Given the description of an element on the screen output the (x, y) to click on. 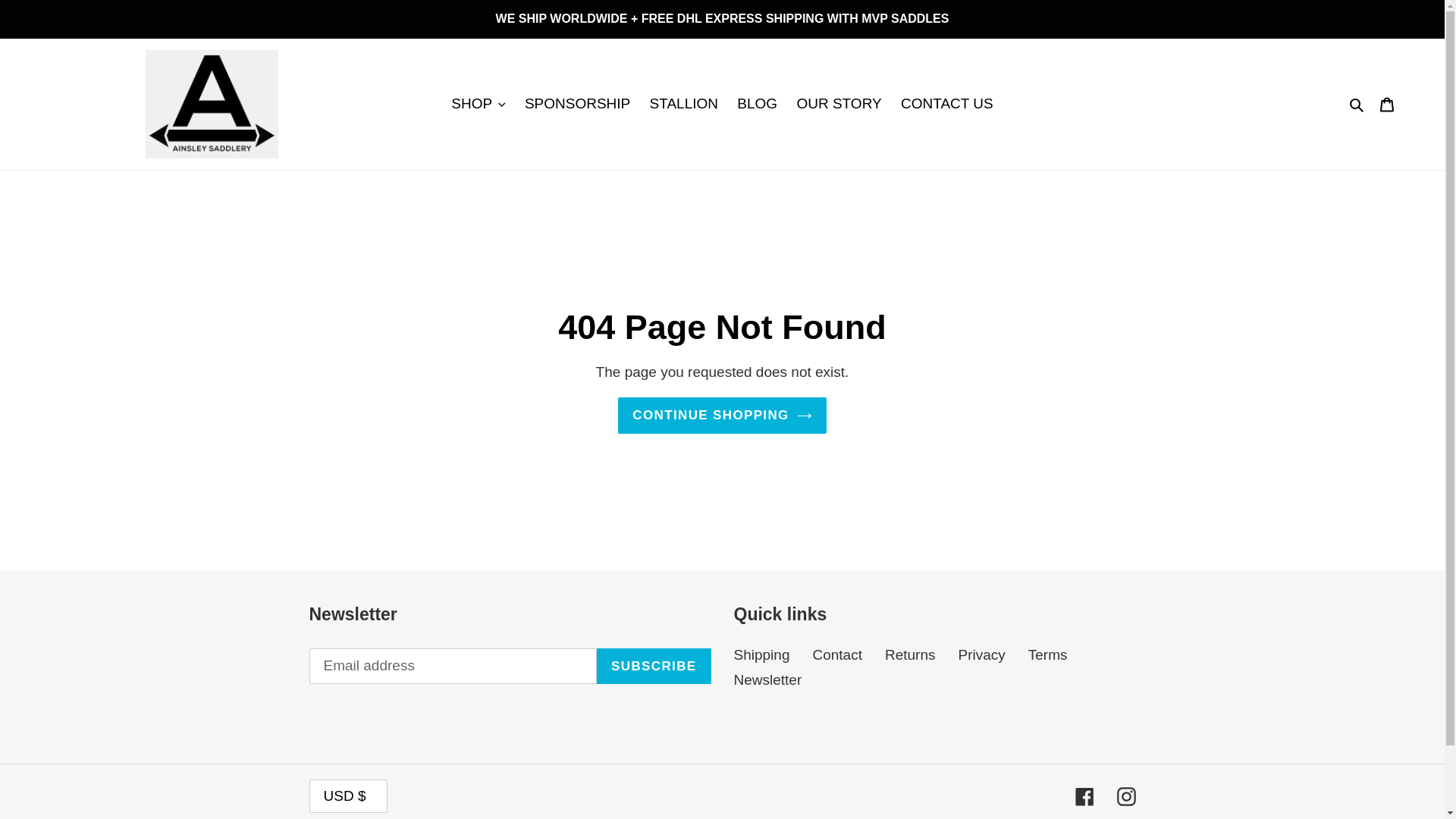
STALLION (683, 103)
SPONSORSHIP (576, 103)
Search (1357, 104)
OUR STORY (838, 103)
SHOP (478, 103)
CONTACT US (947, 103)
BLOG (756, 103)
